Given the description of an element on the screen output the (x, y) to click on. 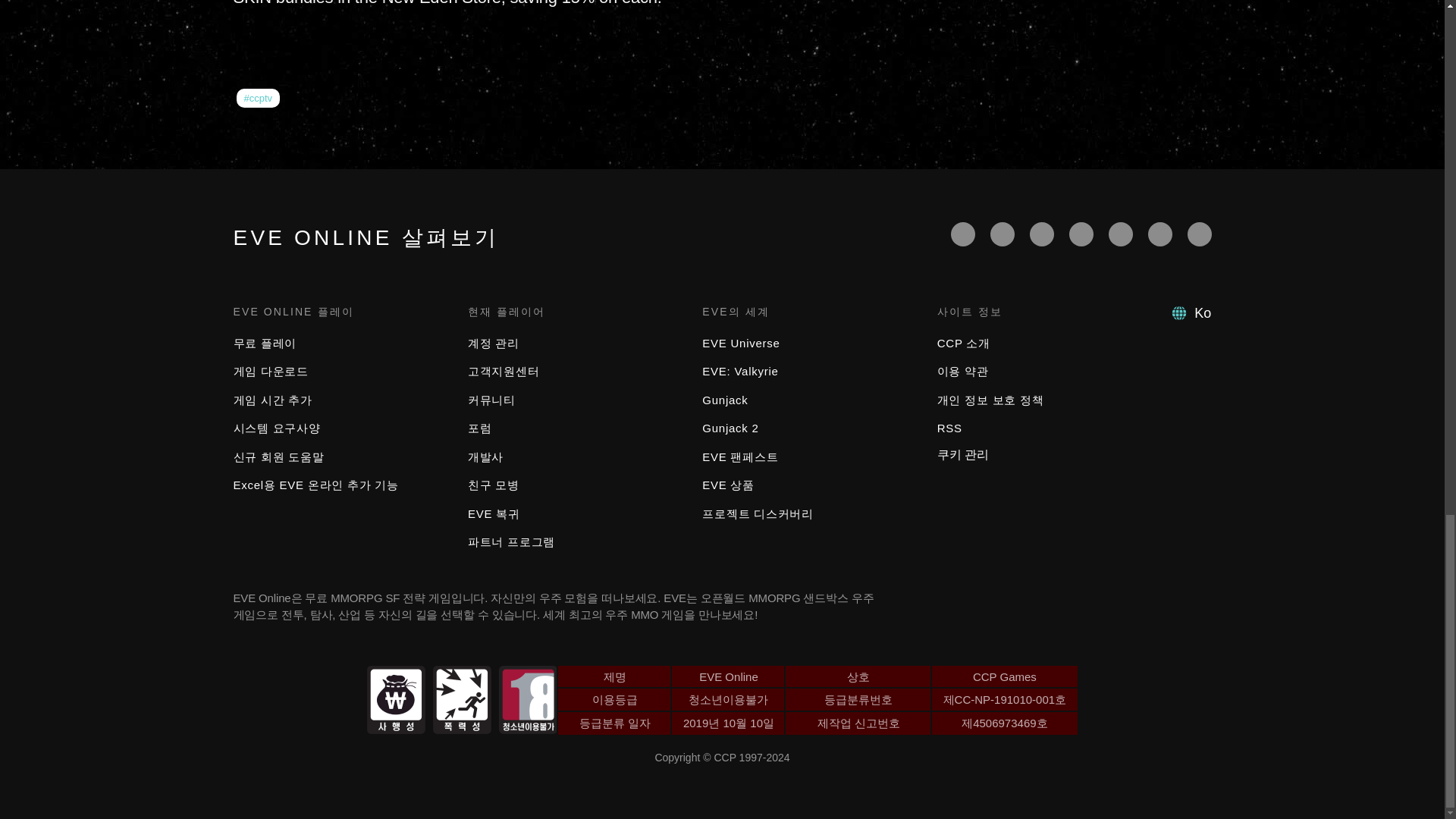
Twitch (1080, 233)
Twitter (1002, 233)
Instagram (1160, 233)
Discord (1120, 233)
Facebook (962, 233)
YouTube (1041, 233)
VK (1199, 233)
